Given the description of an element on the screen output the (x, y) to click on. 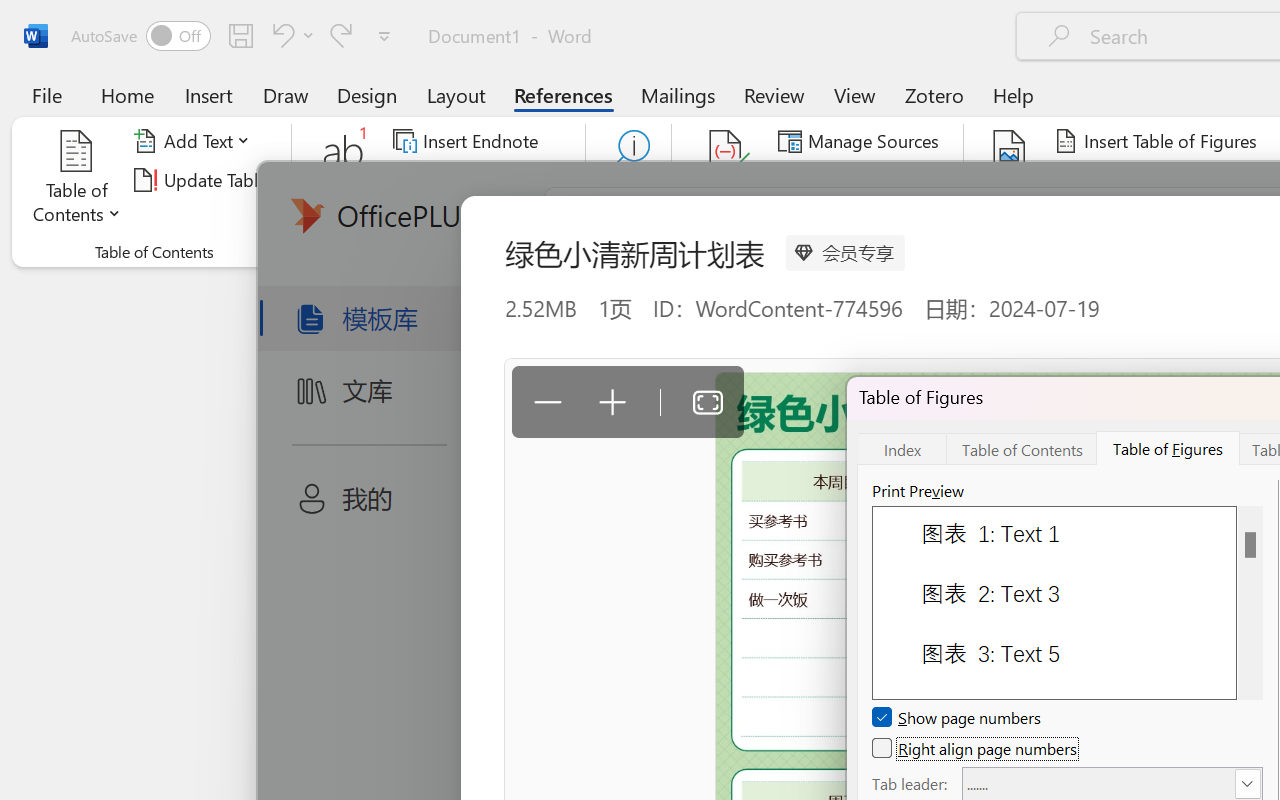
Insert Footnote (344, 179)
Next Footnote (479, 179)
Insert Table of Figures... (1158, 141)
Cross-reference... (1133, 218)
Manage Sources... (861, 141)
Table of Figures (1167, 447)
AutomationID: 44 (1249, 602)
